Given the description of an element on the screen output the (x, y) to click on. 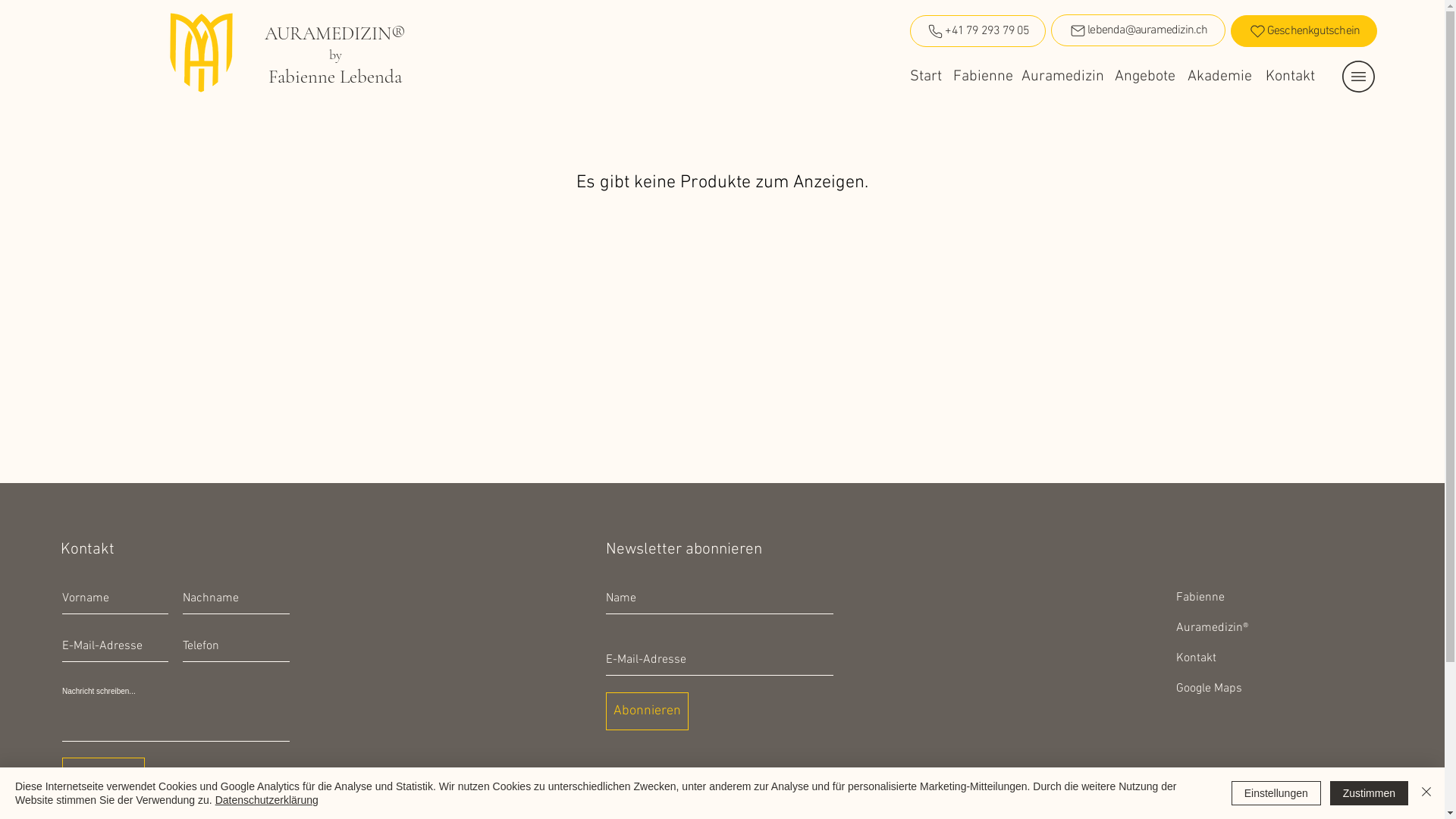
Geschenkgutschein Element type: text (1303, 31)
lebenda@auramedizin.ch Element type: text (1138, 30)
Kontakt Element type: text (1196, 657)
Fabienne Element type: text (982, 76)
Abonnieren Element type: text (646, 711)
by Element type: text (335, 55)
Akademie Element type: text (1219, 76)
Auramedizin Element type: text (1062, 76)
Angebote Element type: text (1144, 76)
Fabienne Element type: text (1200, 597)
Absenden Element type: text (103, 776)
+41 79 293 79 05 Element type: text (977, 31)
Google Maps Element type: text (1209, 688)
Start Element type: text (925, 76)
Fabienne Lebenda Element type: text (334, 77)
Kontakt Element type: text (1289, 76)
